Given the description of an element on the screen output the (x, y) to click on. 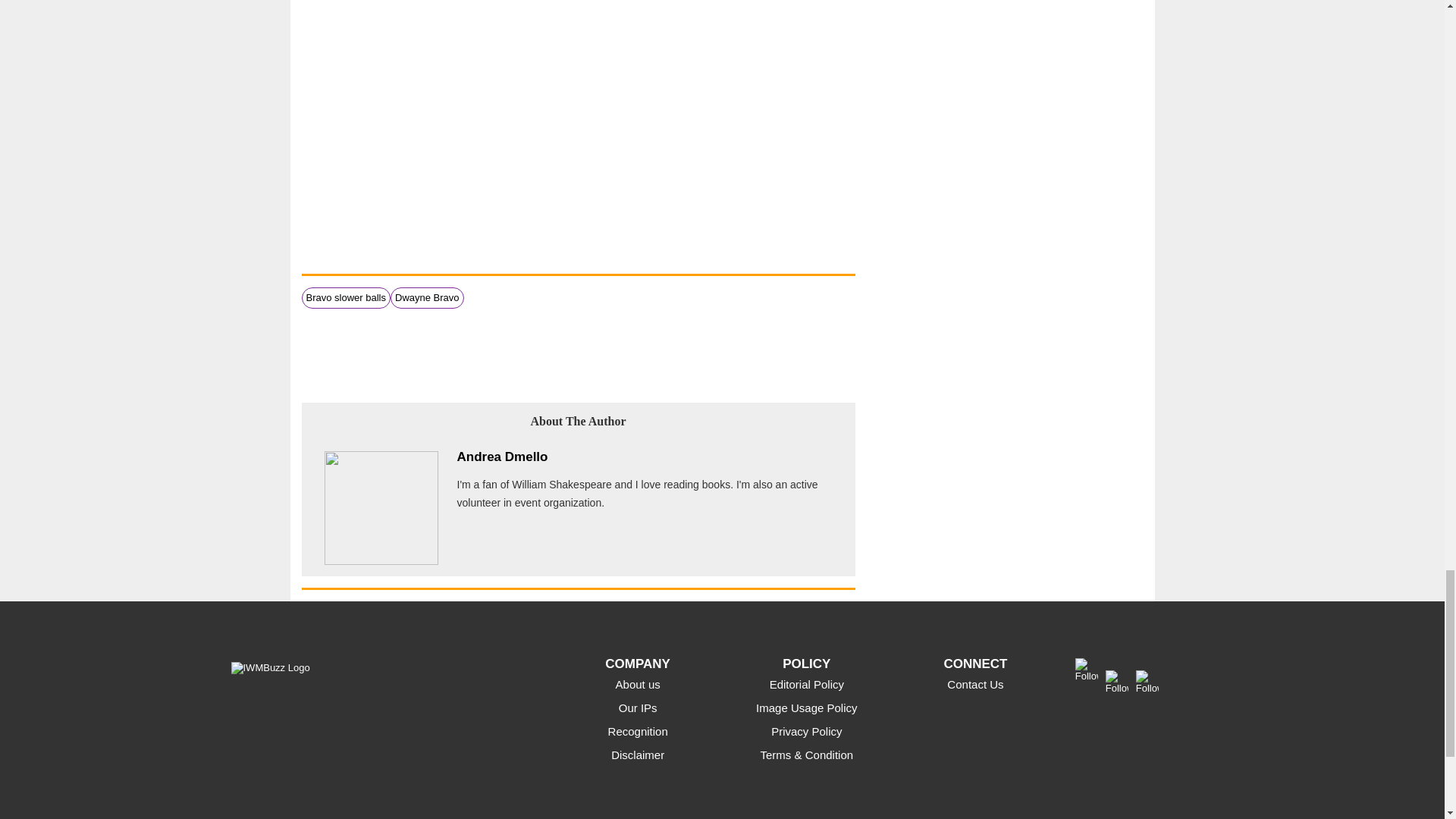
Dwayne Bravo (427, 297)
Andrea Dmello (502, 456)
Bravo slower balls (346, 297)
